Given the description of an element on the screen output the (x, y) to click on. 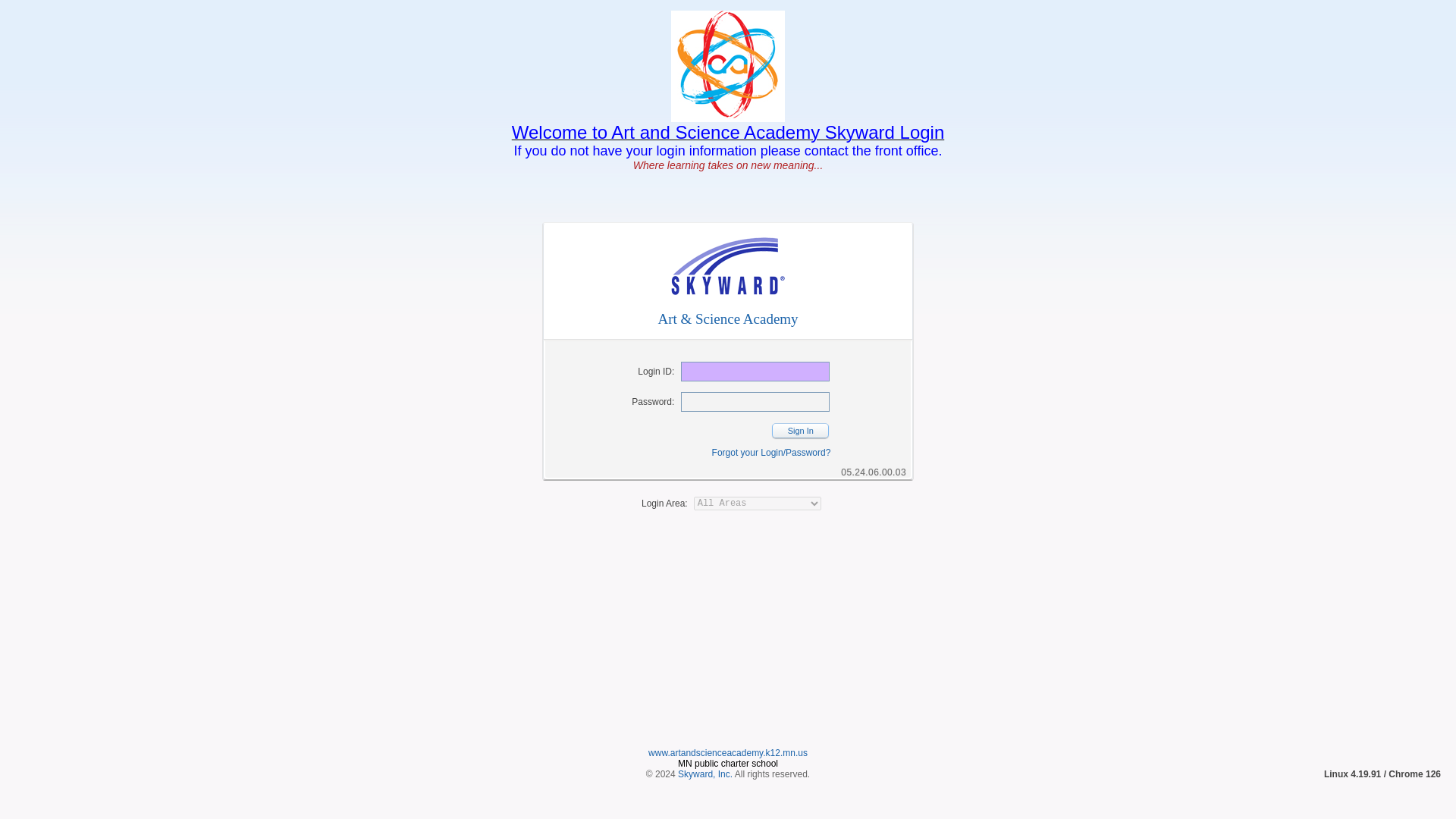
www.artandscienceacademy.k12.mn.us (727, 752)
Sign In (799, 430)
